Given the description of an element on the screen output the (x, y) to click on. 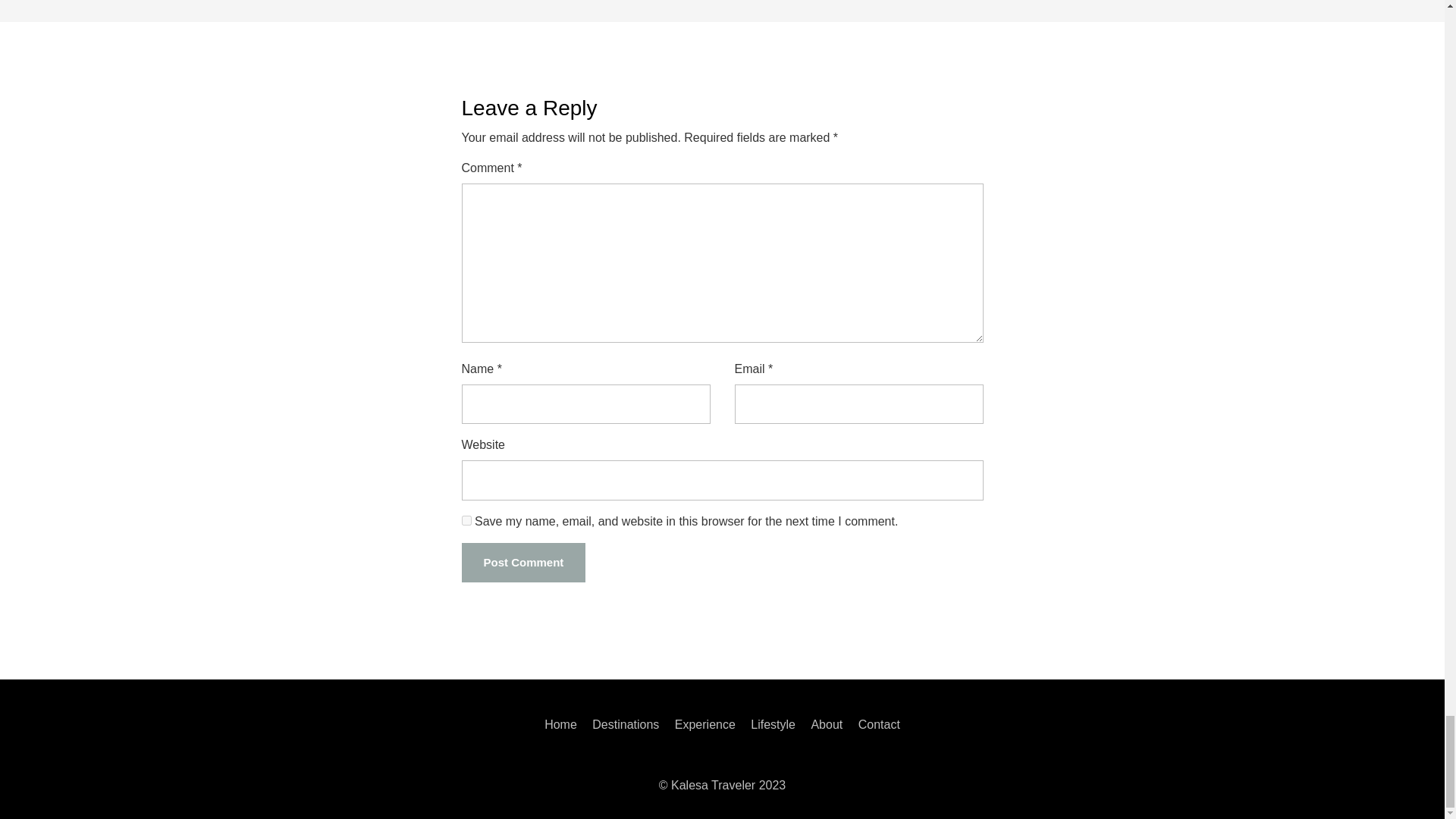
Post Comment (523, 562)
yes (465, 520)
Destinations (625, 724)
Home (560, 724)
Post Comment (523, 562)
Experience (705, 724)
